Given the description of an element on the screen output the (x, y) to click on. 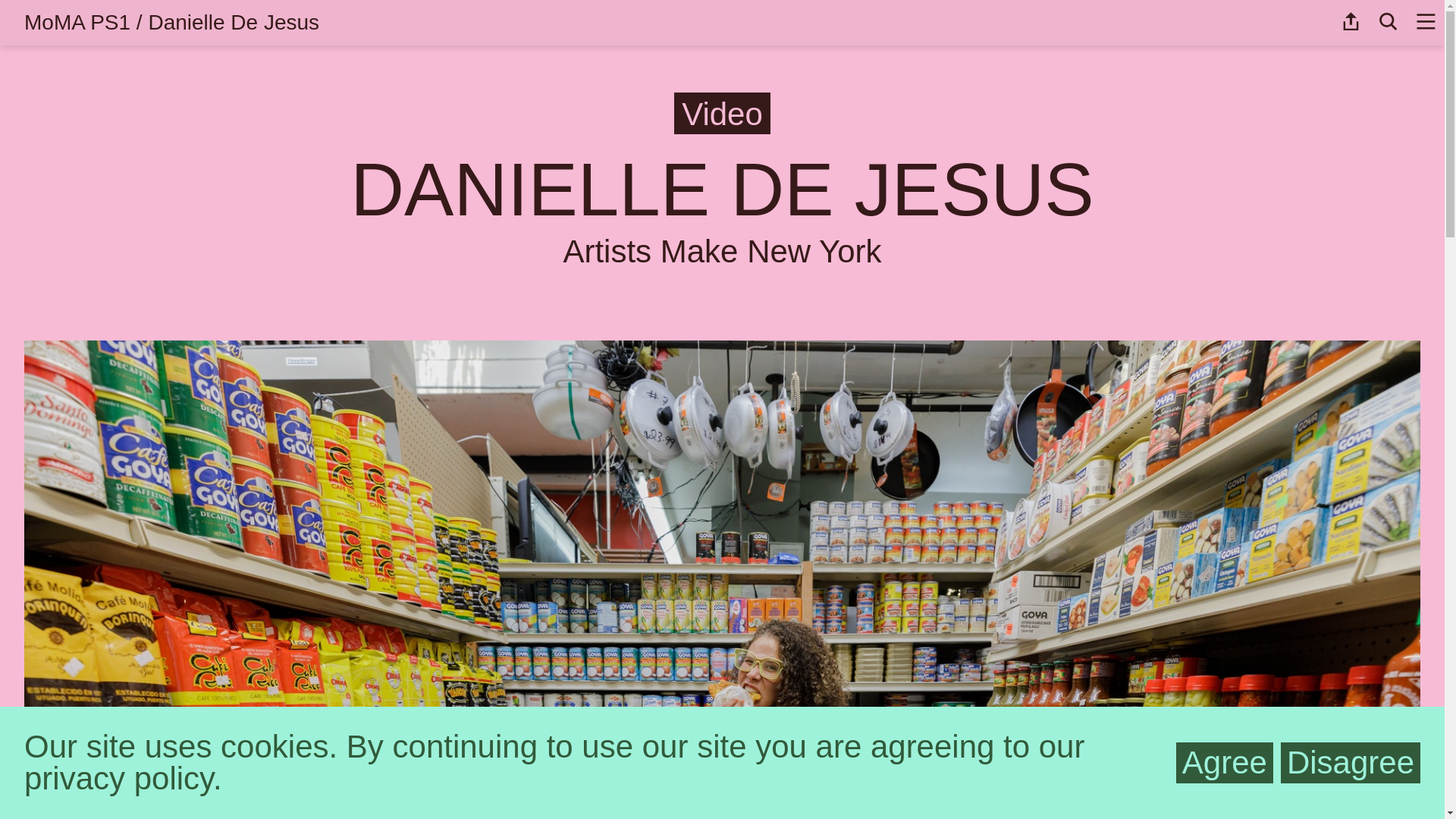
Share this page (1351, 21)
Search (1388, 21)
MoMA PS1 (77, 22)
Skip to content (21, 20)
